Given the description of an element on the screen output the (x, y) to click on. 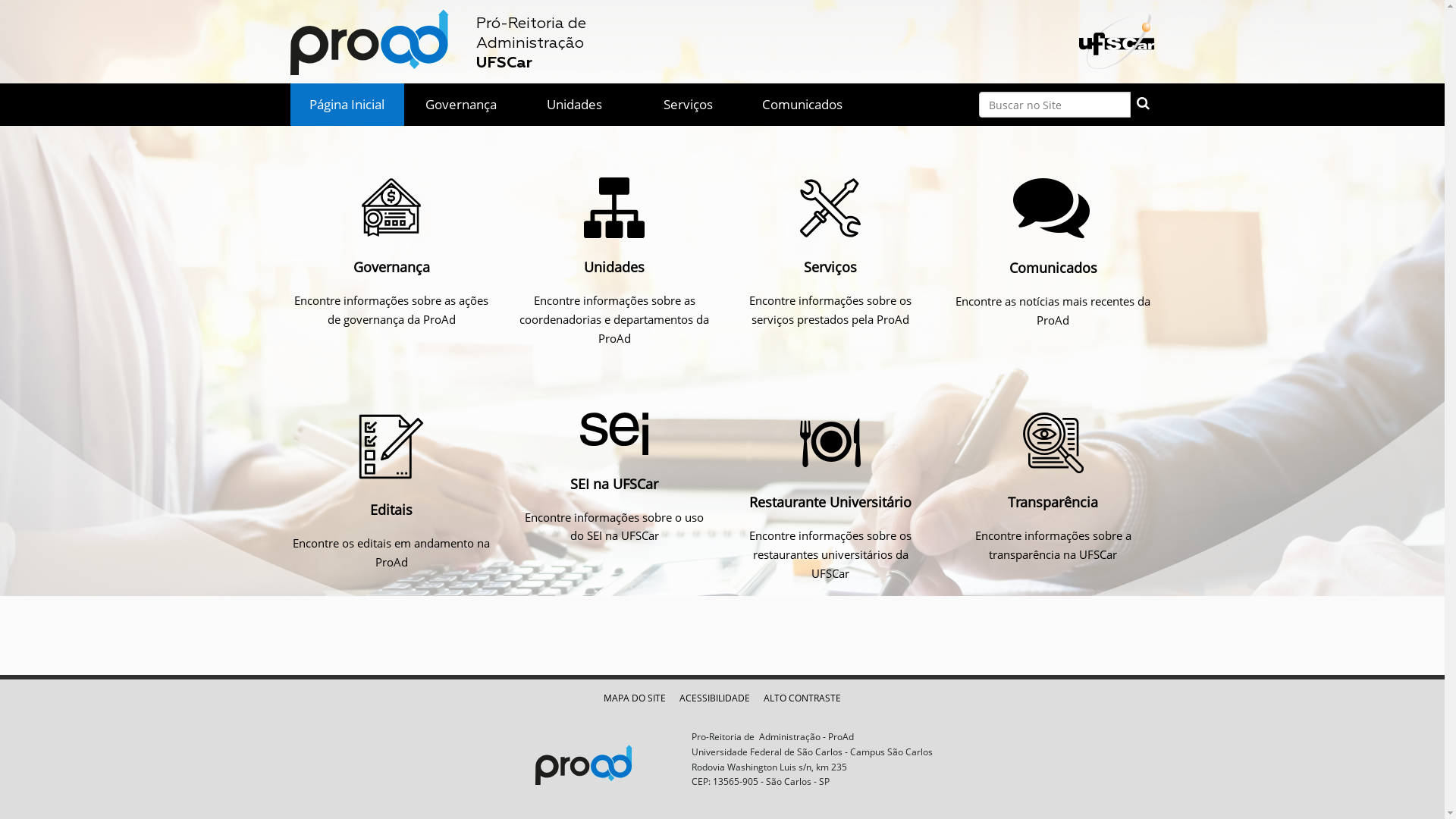
Unidades Element type: hover (613, 207)
Editais Element type: hover (391, 446)
proad.svg Element type: hover (597, 756)
Portal UFSCar Element type: hover (1116, 39)
ACESSIBILIDADE Element type: text (714, 697)
SEI na UFSCar Element type: hover (614, 433)
ALTO CONTRASTE Element type: text (801, 697)
Unidades Element type: text (573, 104)
Buscar no Site Element type: hover (1053, 104)
Comunicados Element type: text (801, 104)
Editais
Encontre os editais em andamento na ProAd Element type: text (390, 491)
MAPA DO SITE Element type: text (634, 697)
